Given the description of an element on the screen output the (x, y) to click on. 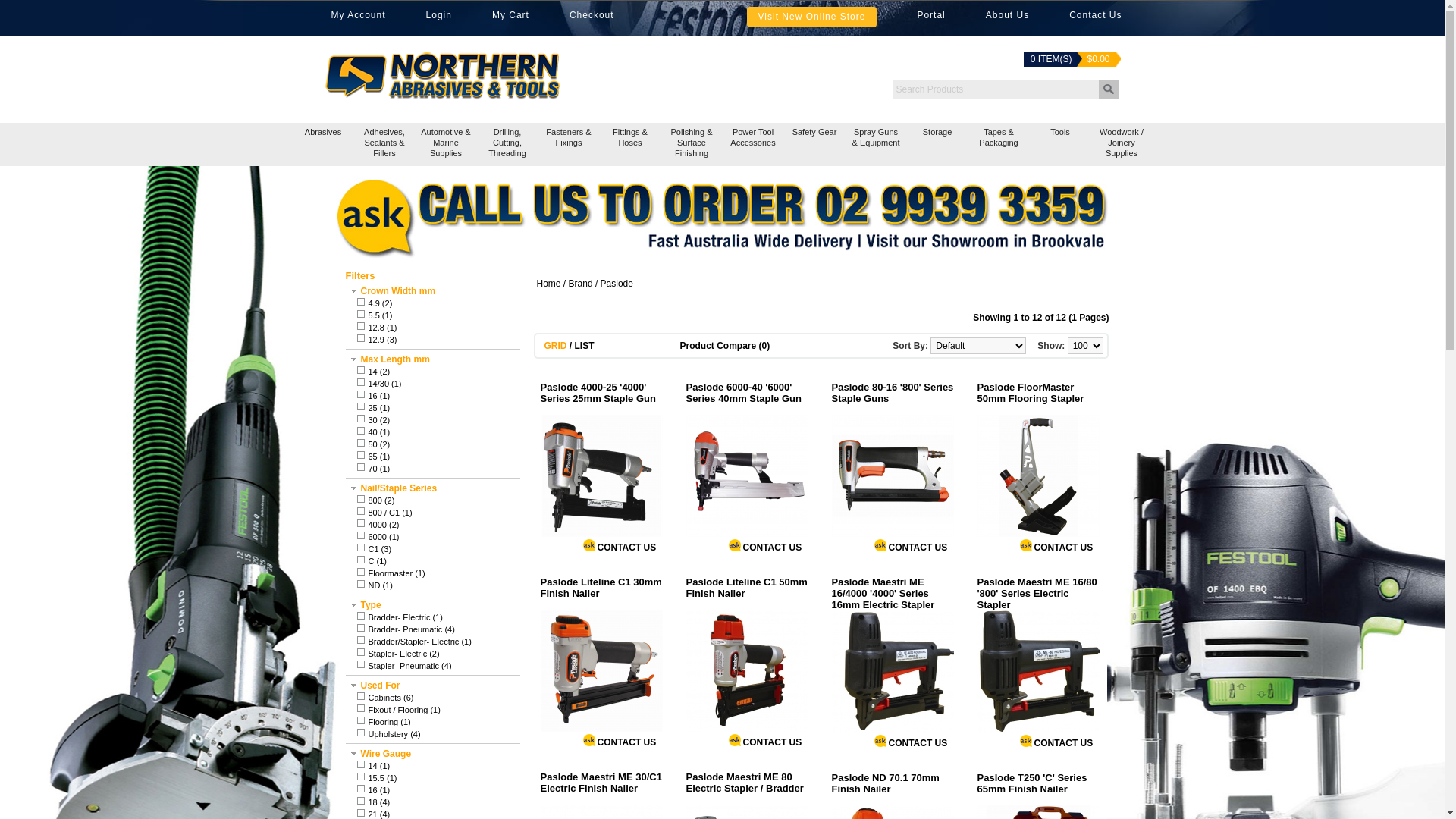
Paslode 80-16 '800' Series Staple Guns Element type: text (892, 397)
Spray Guns & Equipment Element type: text (875, 144)
Checkout Element type: text (591, 15)
Paslode Element type: text (616, 283)
Paslode Maestri ME 16/80 '800' Series Electric Stapler Element type: hover (1037, 671)
Fittings & Hoses Element type: text (629, 144)
Paslode Maestri ME 80 Electric Stapler / Bradder Element type: text (746, 787)
Product Compare (0) Element type: text (725, 345)
Paslode Liteline C1 50mm Finish Nailer Element type: text (746, 592)
Paslode ND 70.1 70mm Finish Nailer Element type: text (892, 788)
Paslode 4000-25 '4000' Series 25mm Staple Gun Element type: hover (600, 475)
My Cart Element type: text (510, 15)
Visit New Online Store Element type: text (811, 16)
Contact Us Element type: text (1095, 15)
Portal Element type: text (930, 15)
Northern Abrasives & Tools Element type: hover (490, 90)
Power Tool Accessories Element type: text (752, 144)
Automotive & Marine Supplies Element type: text (445, 144)
Home Element type: text (548, 283)
Paslode T250 'C' Series 65mm Finish Nailer Element type: text (1037, 788)
Woodwork / Joinery Supplies Element type: text (1120, 144)
Paslode 4000-25 '4000' Series 25mm Staple Gun Element type: text (600, 397)
Paslode Maestri ME 16/80 '800' Series Electric Stapler Element type: text (1037, 593)
Paslode FloorMaster 50mm Flooring Stapler Element type: text (1037, 397)
Adhesives, Sealants & Fillers Element type: text (383, 144)
Paslode FloorMaster 50mm Flooring Stapler Element type: hover (1037, 475)
Paslode Maestri ME 30/C1 Electric Finish Nailer Element type: text (600, 787)
Paslode 6000-40 '6000' Series 40mm Staple Gun Element type: hover (746, 475)
Brand Element type: text (580, 283)
Paslode Liteline C1 30mm Finish Nailer Element type: hover (600, 670)
Abrasives Element type: text (323, 144)
Paslode 6000-40 '6000' Series 40mm Staple Gun Element type: text (746, 397)
Paslode Liteline C1 30mm Finish Nailer Element type: text (600, 592)
Tapes & Packaging Element type: text (998, 144)
LIST Element type: text (584, 345)
Login Element type: text (438, 15)
Tools Element type: text (1060, 144)
About Us Element type: text (1007, 15)
Safety Gear Element type: text (814, 144)
My Account Element type: text (357, 15)
Drilling, Cutting, Threading Element type: text (506, 144)
Paslode Liteline C1 50mm Finish Nailer Element type: hover (746, 670)
Fasteners & Fixings Element type: text (568, 144)
Storage Element type: text (937, 144)
Polishing & Surface Finishing Element type: text (691, 144)
Paslode 80-16 '800' Series Staple Guns Element type: hover (892, 475)
Search Products Element type: text (995, 89)
